Given the description of an element on the screen output the (x, y) to click on. 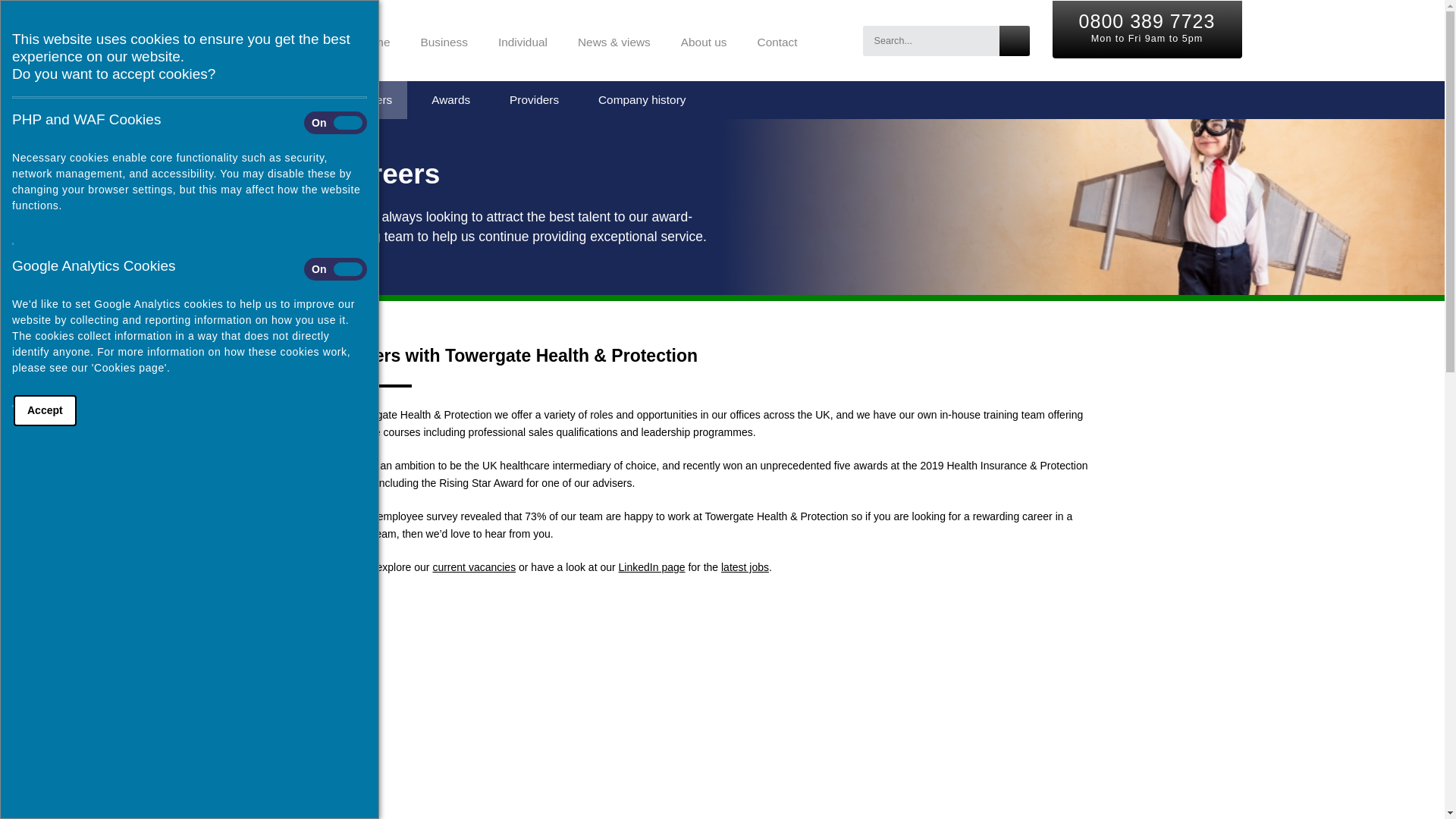
Home (373, 39)
Individual (522, 39)
Call our team of experts today! (1146, 20)
Business (442, 39)
